Given the description of an element on the screen output the (x, y) to click on. 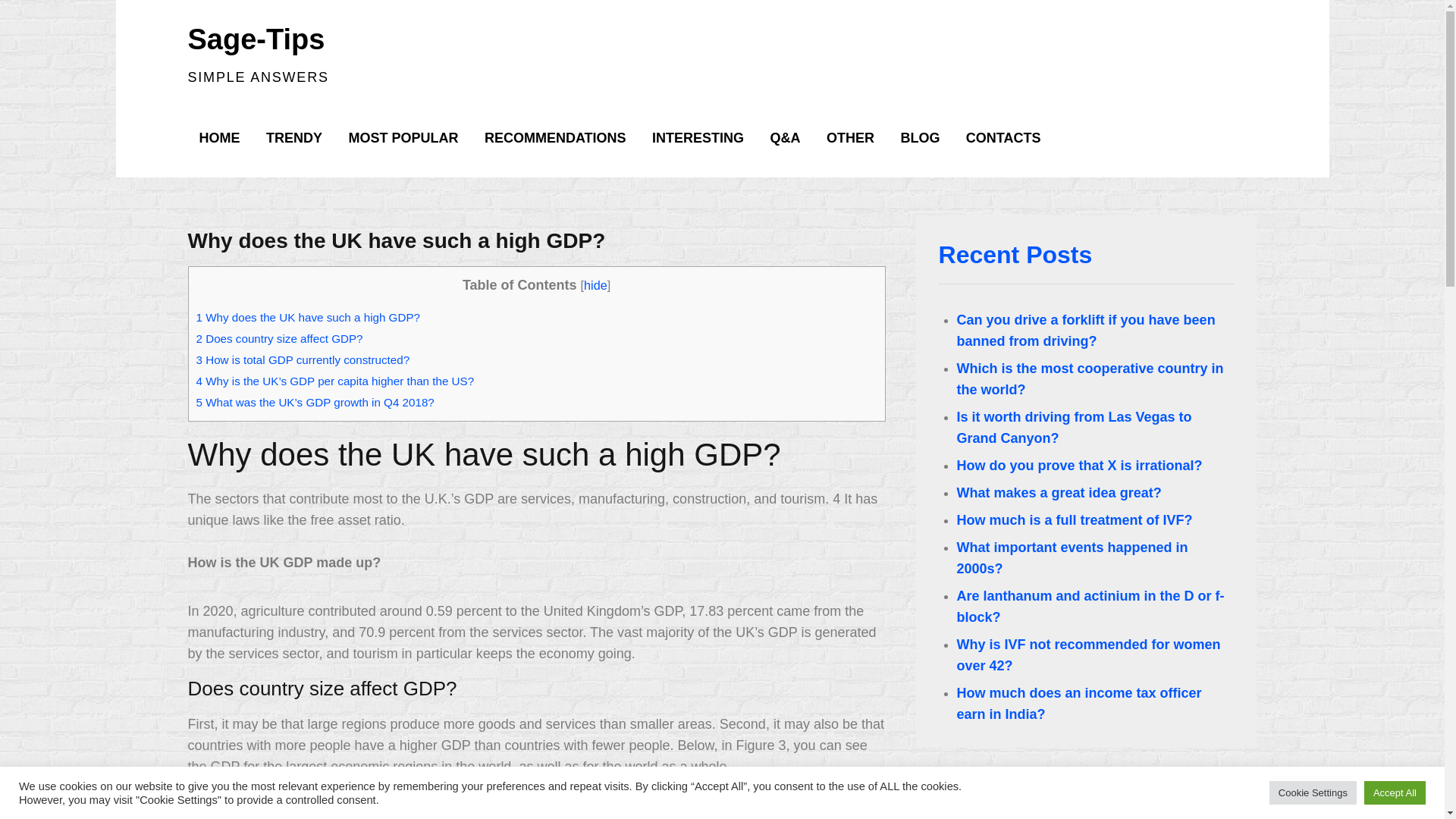
Are lanthanum and actinium in the D or f-block? (1090, 606)
Why does the UK have such a high GDP? (396, 240)
Sage-Tips (255, 39)
READ ALSO:   What are the 3 aspects of color? (536, 803)
1 Why does the UK have such a high GDP? (307, 317)
CONTACTS (1003, 137)
TRENDY (293, 137)
How much is a full treatment of IVF? (1074, 519)
BLOG (919, 137)
2 Does country size affect GDP? (278, 338)
MOST POPULAR (402, 137)
What important events happened in 2000s? (1072, 557)
Which is the most cooperative country in the world? (1090, 379)
INTERESTING (697, 137)
